Given the description of an element on the screen output the (x, y) to click on. 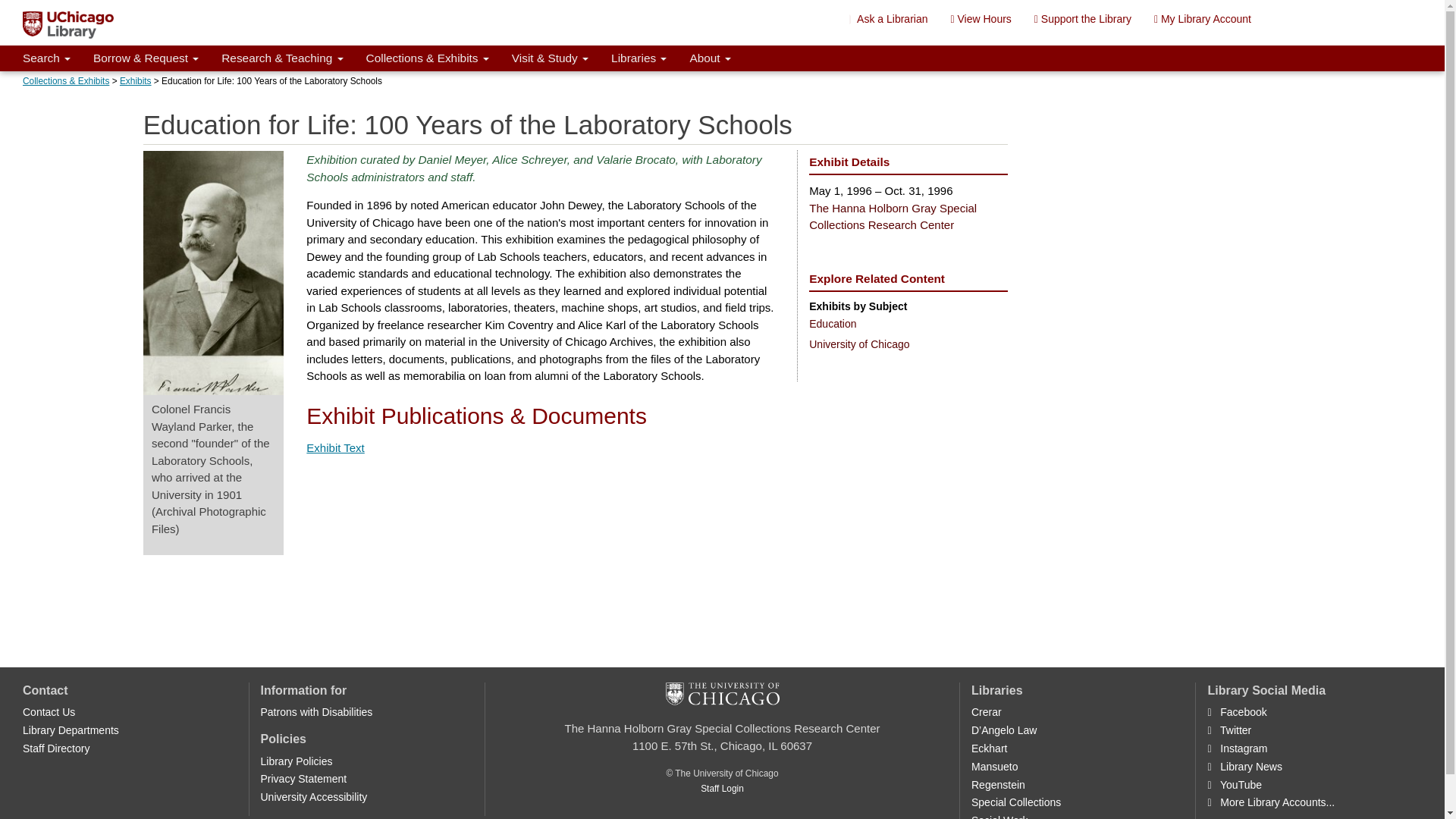
Search (46, 58)
Support the Library (1082, 18)
My Library Account (1202, 18)
View Hours (980, 18)
Ask a Librarian (888, 18)
